Given the description of an element on the screen output the (x, y) to click on. 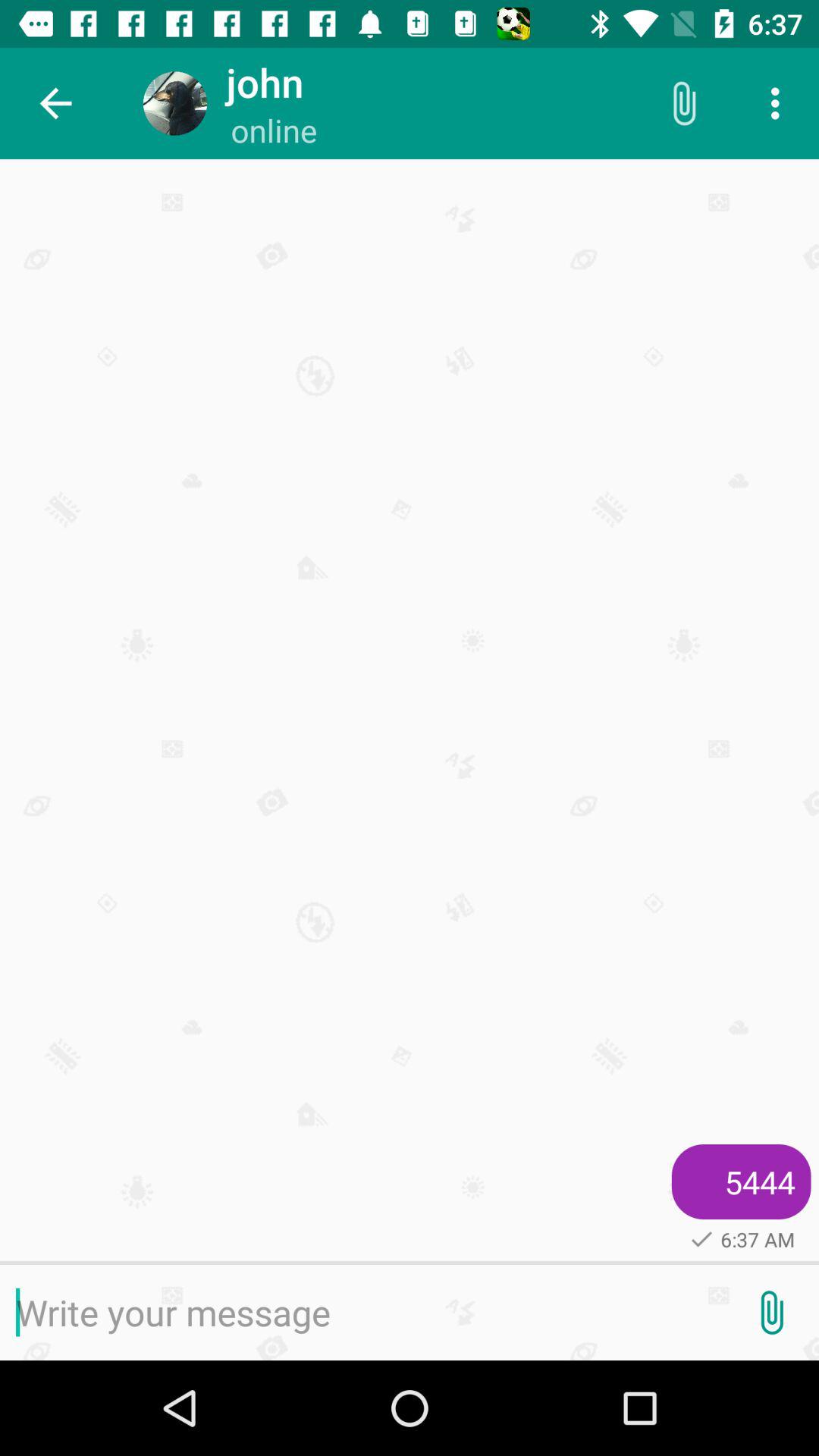
attach file (771, 1312)
